Given the description of an element on the screen output the (x, y) to click on. 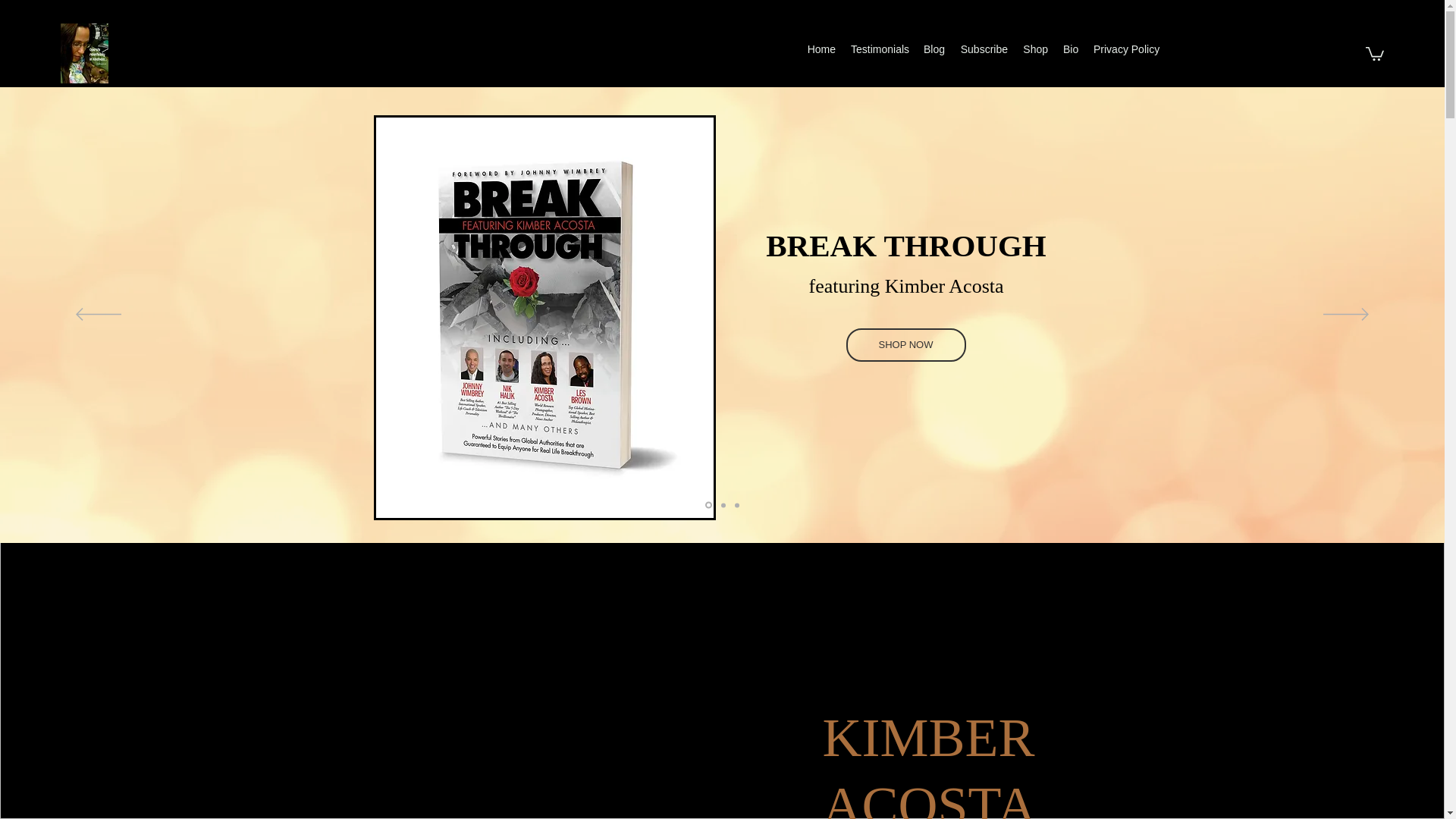
Subscribe (983, 48)
Shop (1034, 48)
Privacy Policy (1123, 48)
Home (821, 48)
Testimonials (879, 48)
Bio (1070, 48)
Blog (933, 48)
SHOP NOW (905, 344)
